Given the description of an element on the screen output the (x, y) to click on. 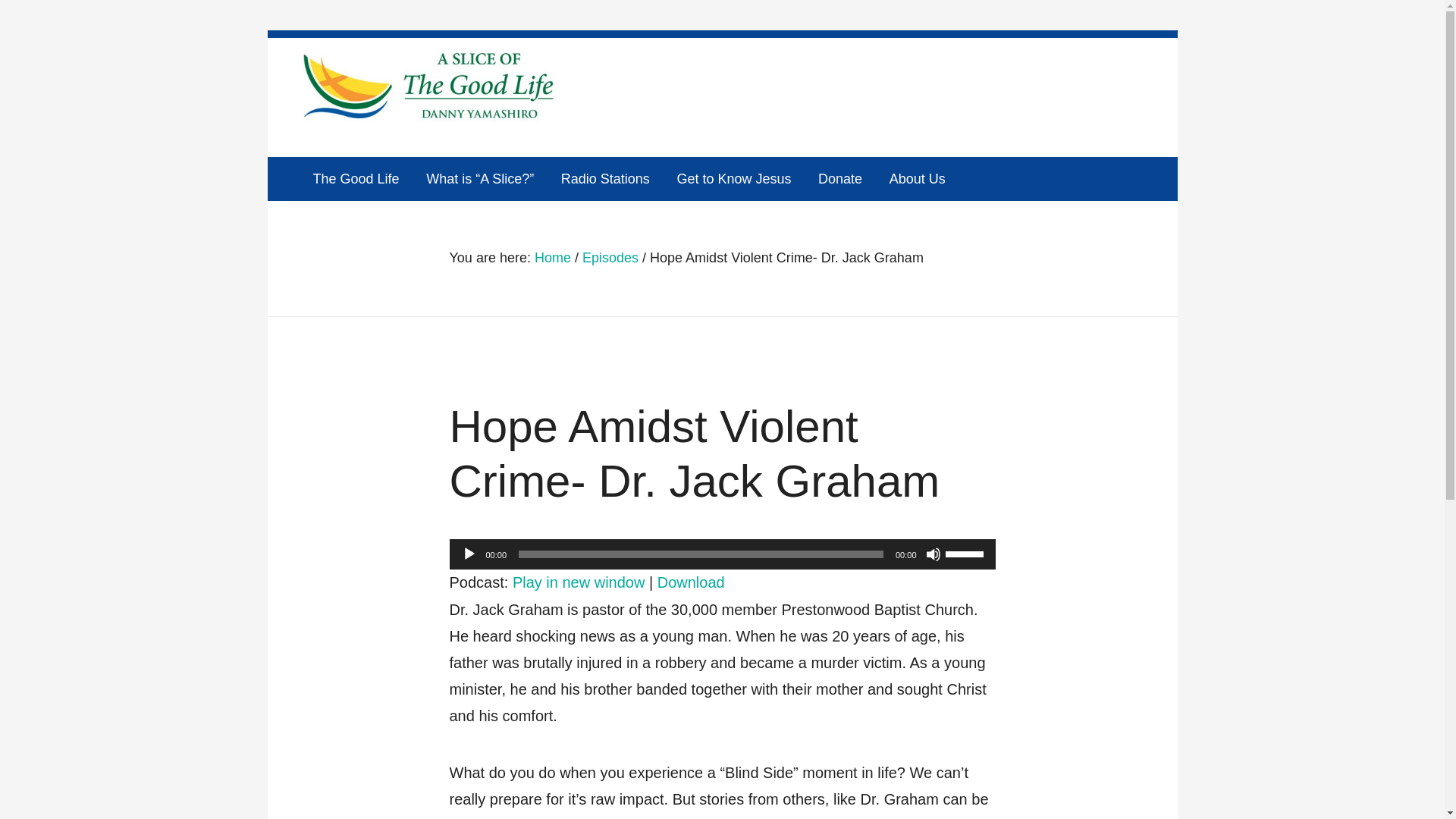
The Good Life (361, 178)
Play in new window (578, 581)
Mute (932, 553)
Home (552, 257)
Download (691, 581)
Radio Stations (605, 178)
Play (468, 553)
Donate (839, 178)
Get to Know Jesus (733, 178)
Play in new window (578, 581)
